Given the description of an element on the screen output the (x, y) to click on. 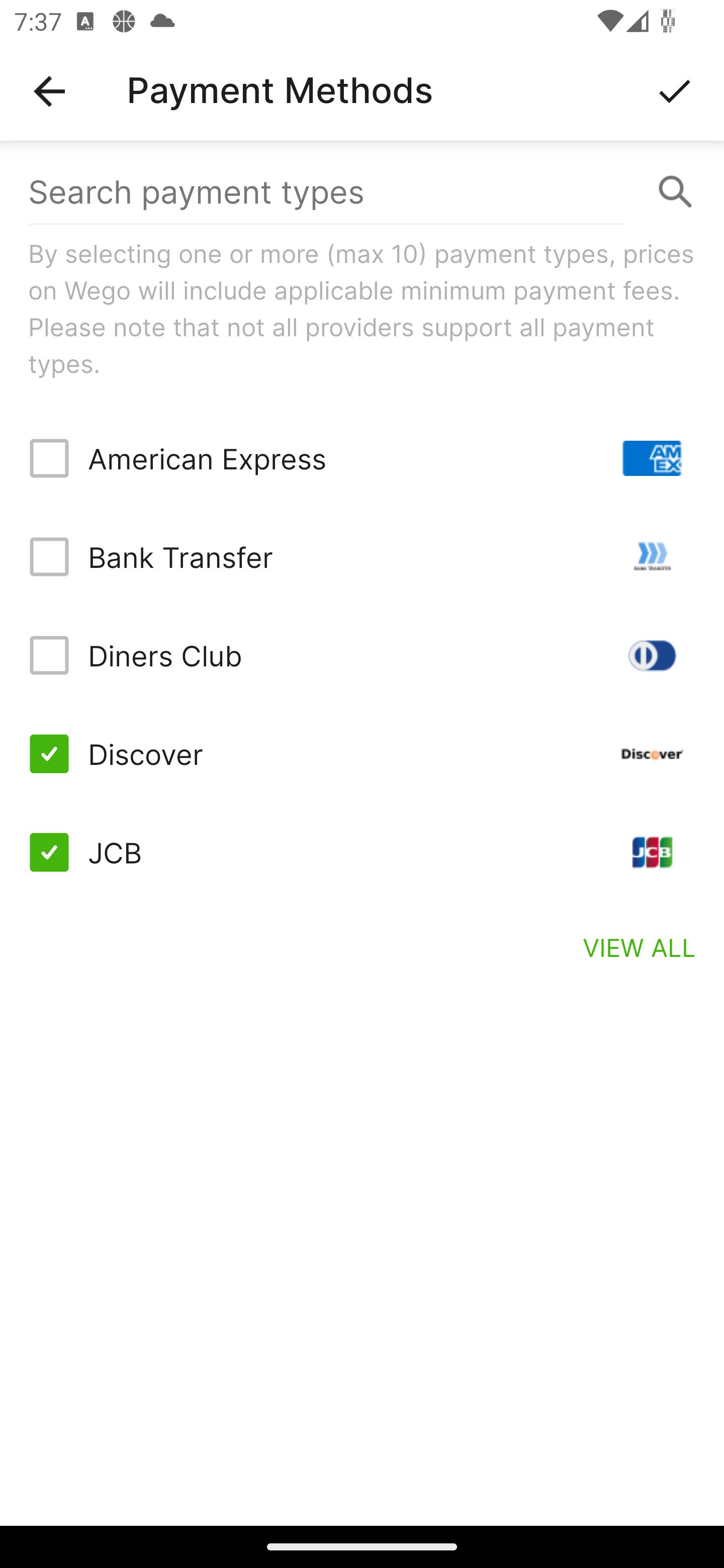
Search payment types  (361, 191)
American Express (362, 458)
Bank Transfer (362, 557)
Diners Club (362, 655)
Discover (362, 753)
JCB (362, 851)
VIEW ALL (639, 946)
